Given the description of an element on the screen output the (x, y) to click on. 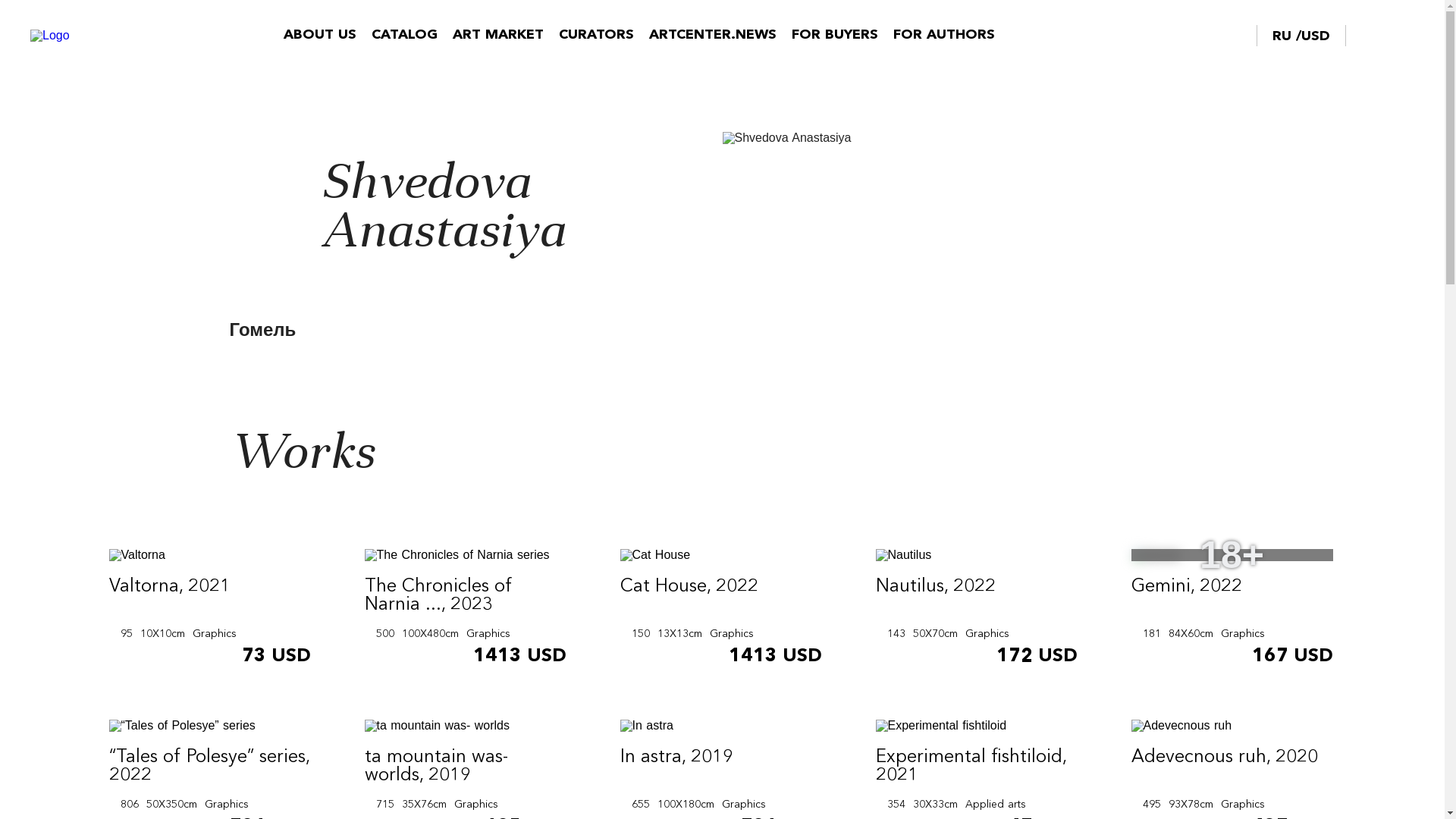
Valtorna, 2021
95
10X10cm
Graphics
73 USD Element type: text (209, 608)
FOR AUTHORS Element type: text (943, 34)
USD Element type: text (1315, 35)
18+
Gemini, 2022
181
84X60cm
Graphics
167 USD Element type: text (1231, 608)
FOR BUYERS Element type: text (834, 34)
CURATORS Element type: text (595, 34)
CATALOG Element type: text (404, 34)
ART MARKET Element type: text (497, 34)
Contacts Element type: text (1221, 34)
Nautilus, 2022
143
50X70cm
Graphics
172 USD Element type: text (976, 608)
ABOUT US Element type: text (319, 34)
Log in Element type: text (1402, 35)
Cat House, 2022
150
13X13cm
Graphics
1413 USD Element type: text (720, 608)
RU Element type: text (1283, 35)
